Given the description of an element on the screen output the (x, y) to click on. 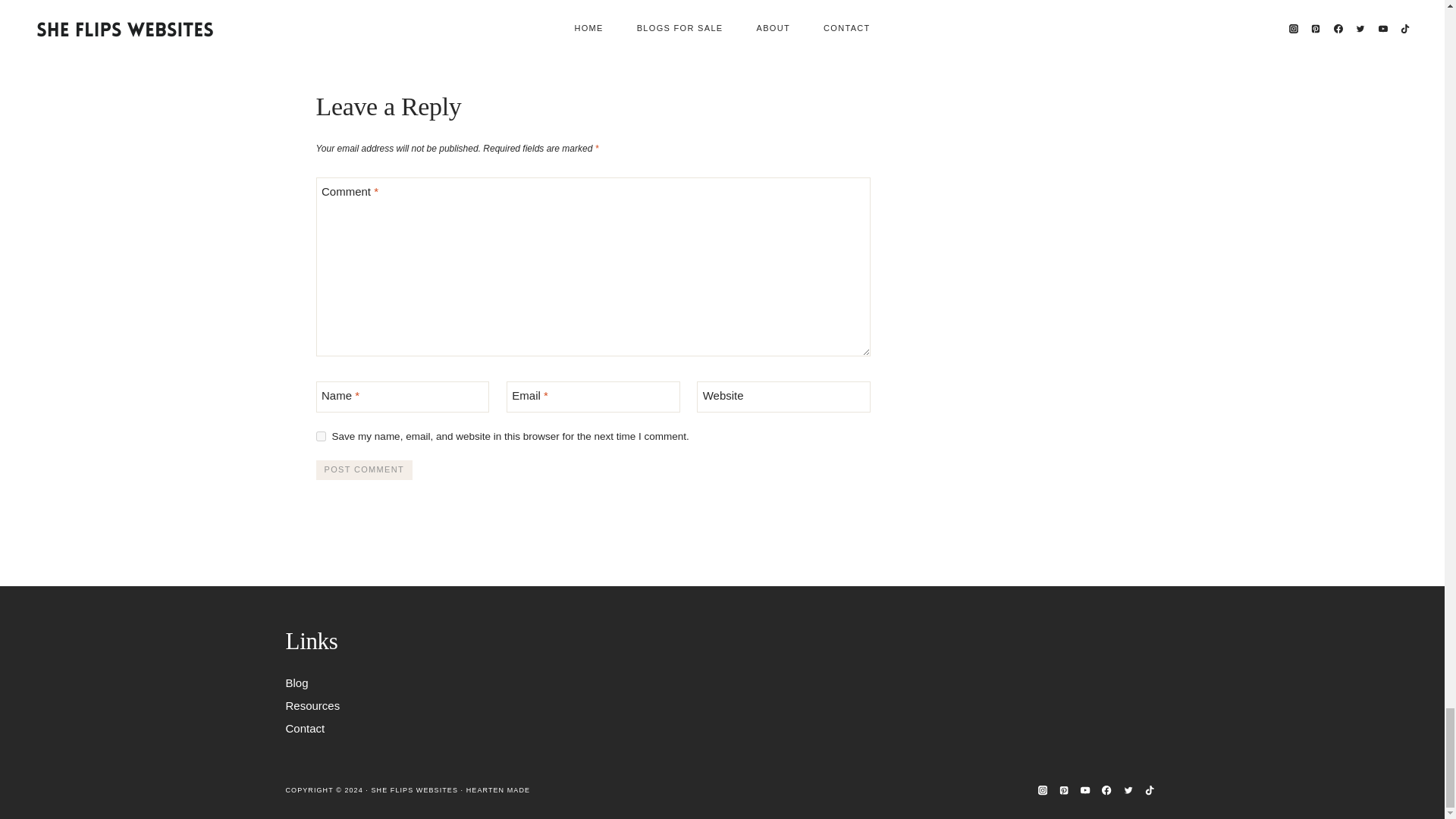
yes (319, 436)
Resources (422, 704)
Post Comment (363, 469)
Keyword Research (509, 24)
On-site SEO (593, 24)
Content Strategy (416, 24)
Content Creation (327, 24)
Contact (422, 727)
Post Comment (363, 469)
Blog (422, 681)
